Given the description of an element on the screen output the (x, y) to click on. 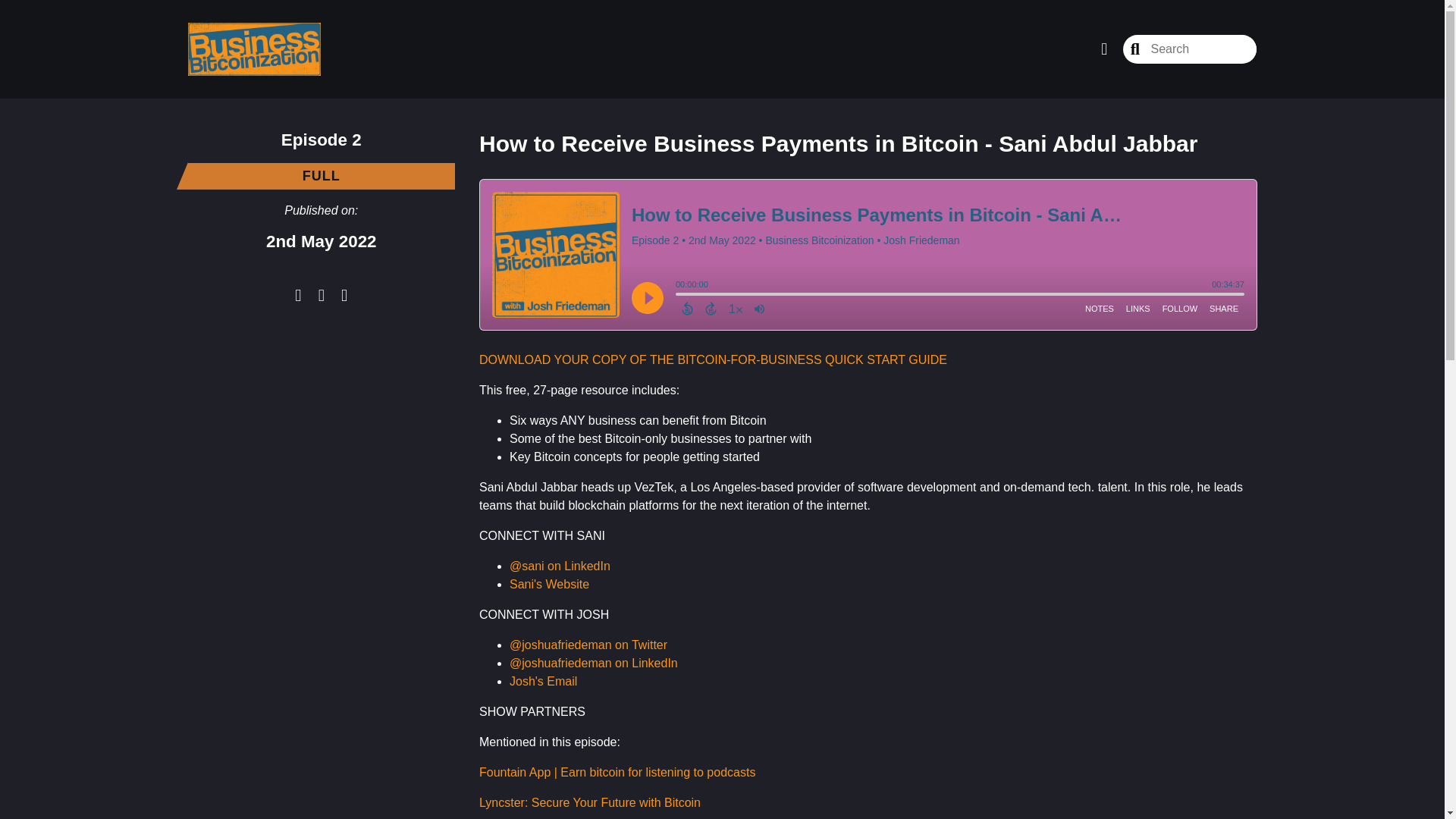
Sani's Website (549, 584)
Josh's Email (542, 680)
Lyncster: Secure Your Future with Bitcoin (589, 802)
